Given the description of an element on the screen output the (x, y) to click on. 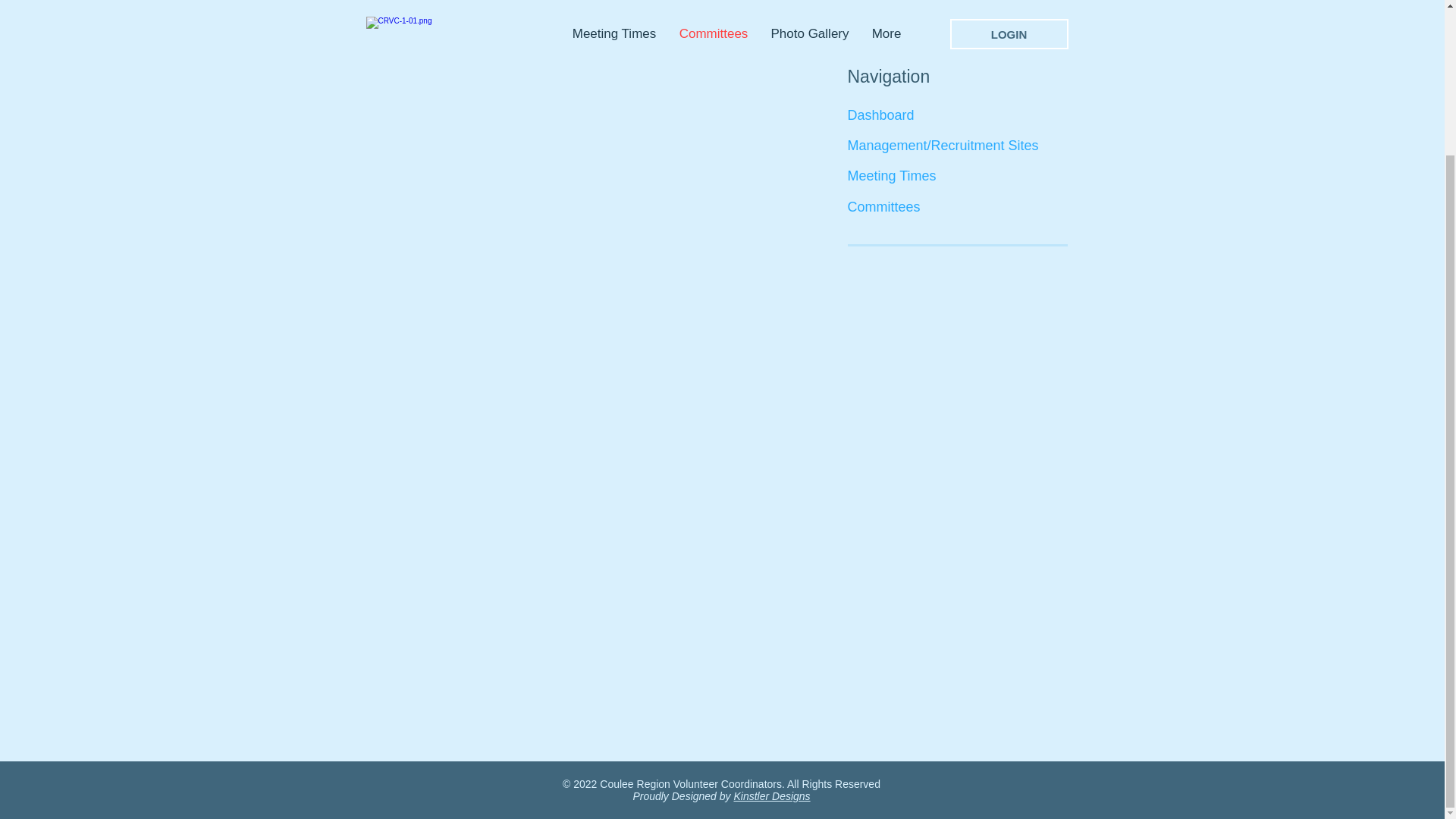
Dashboard (962, 115)
Meeting Times (901, 176)
Committees (901, 207)
Kinstler Designs (771, 796)
